Given the description of an element on the screen output the (x, y) to click on. 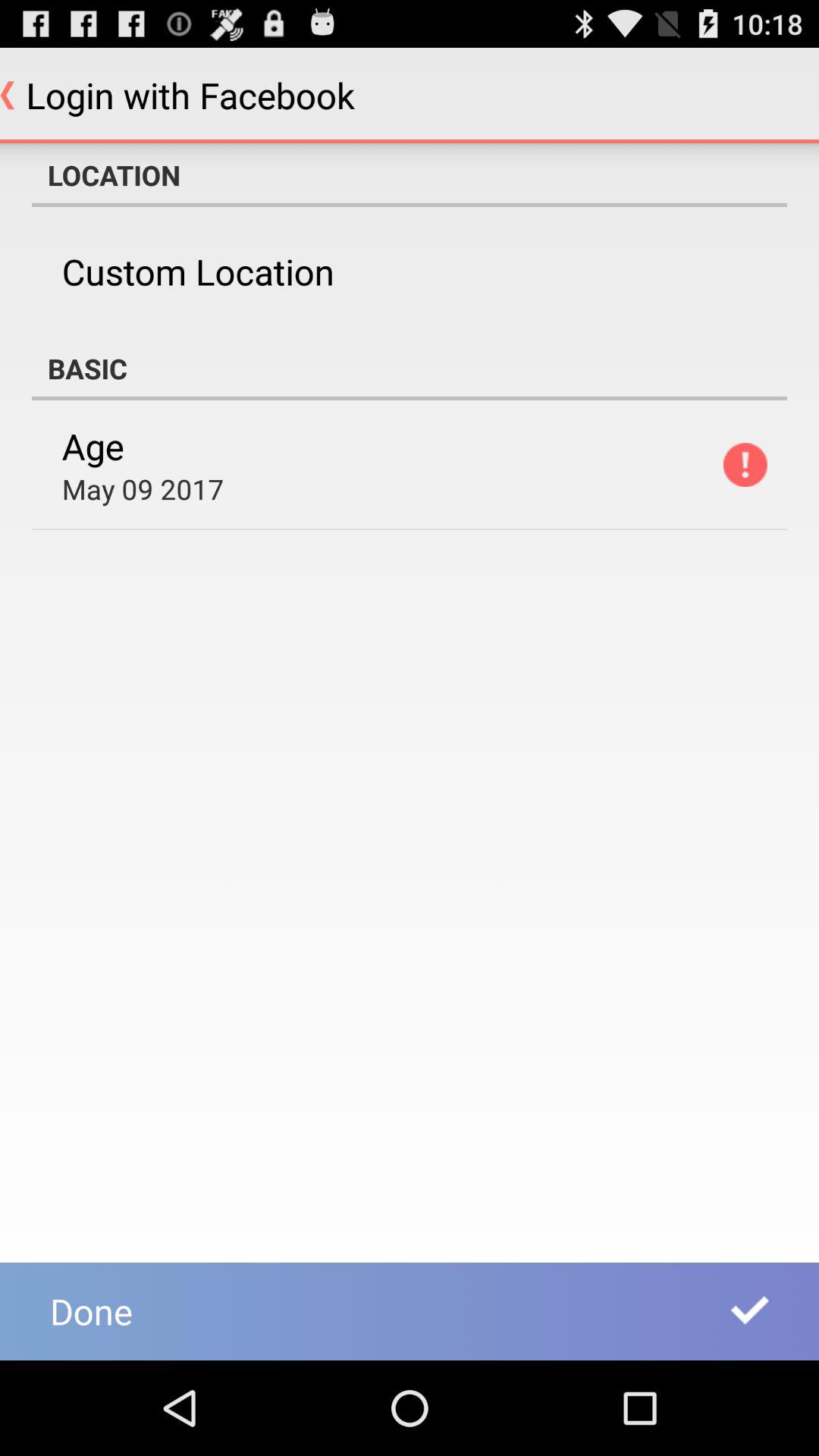
press the icon next to may 09 2017 icon (745, 464)
